Given the description of an element on the screen output the (x, y) to click on. 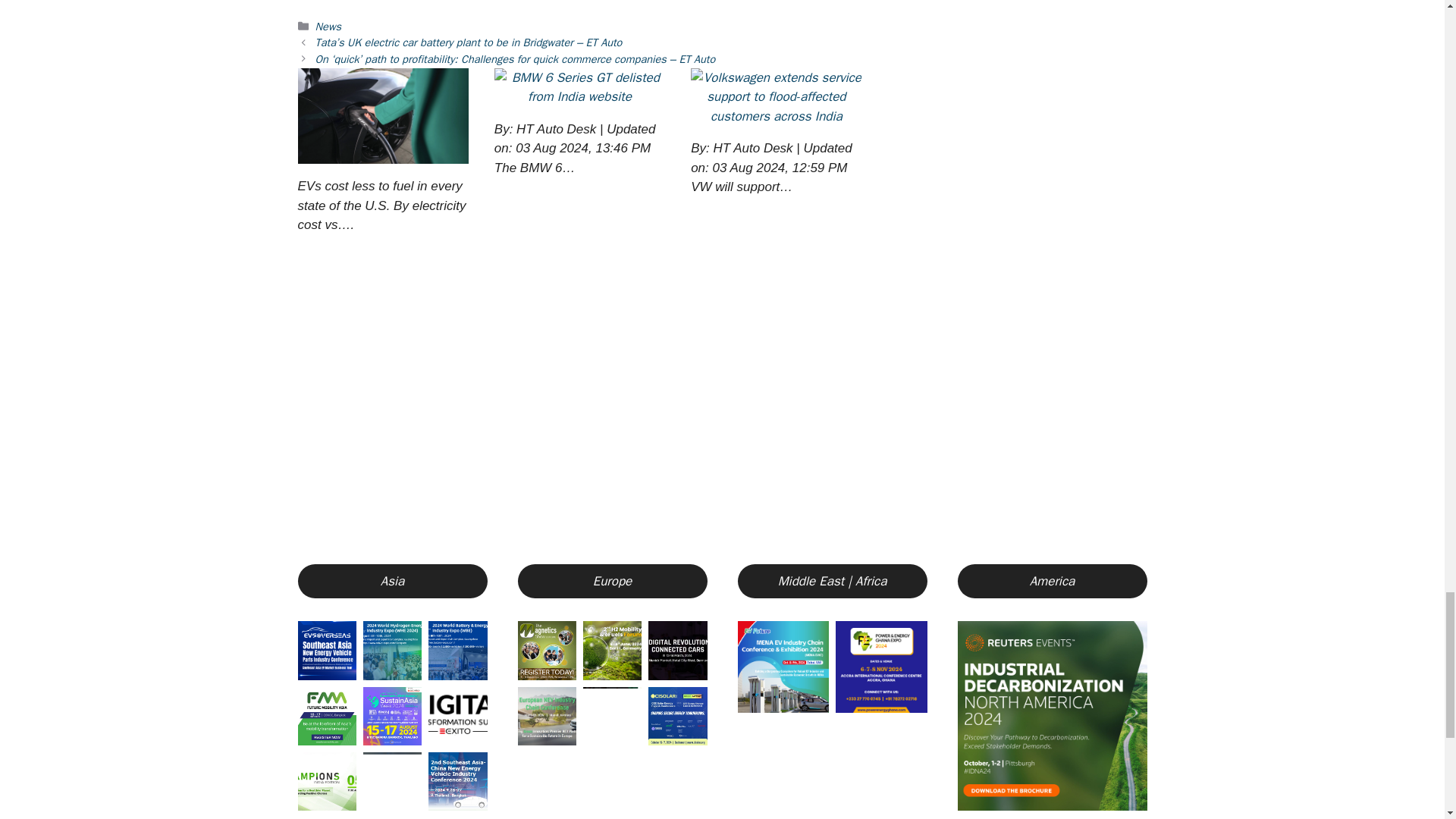
BMW 6 Series GT delisted from India website (580, 87)
BMW 6 Series GT delisted from India website (580, 96)
